Given the description of an element on the screen output the (x, y) to click on. 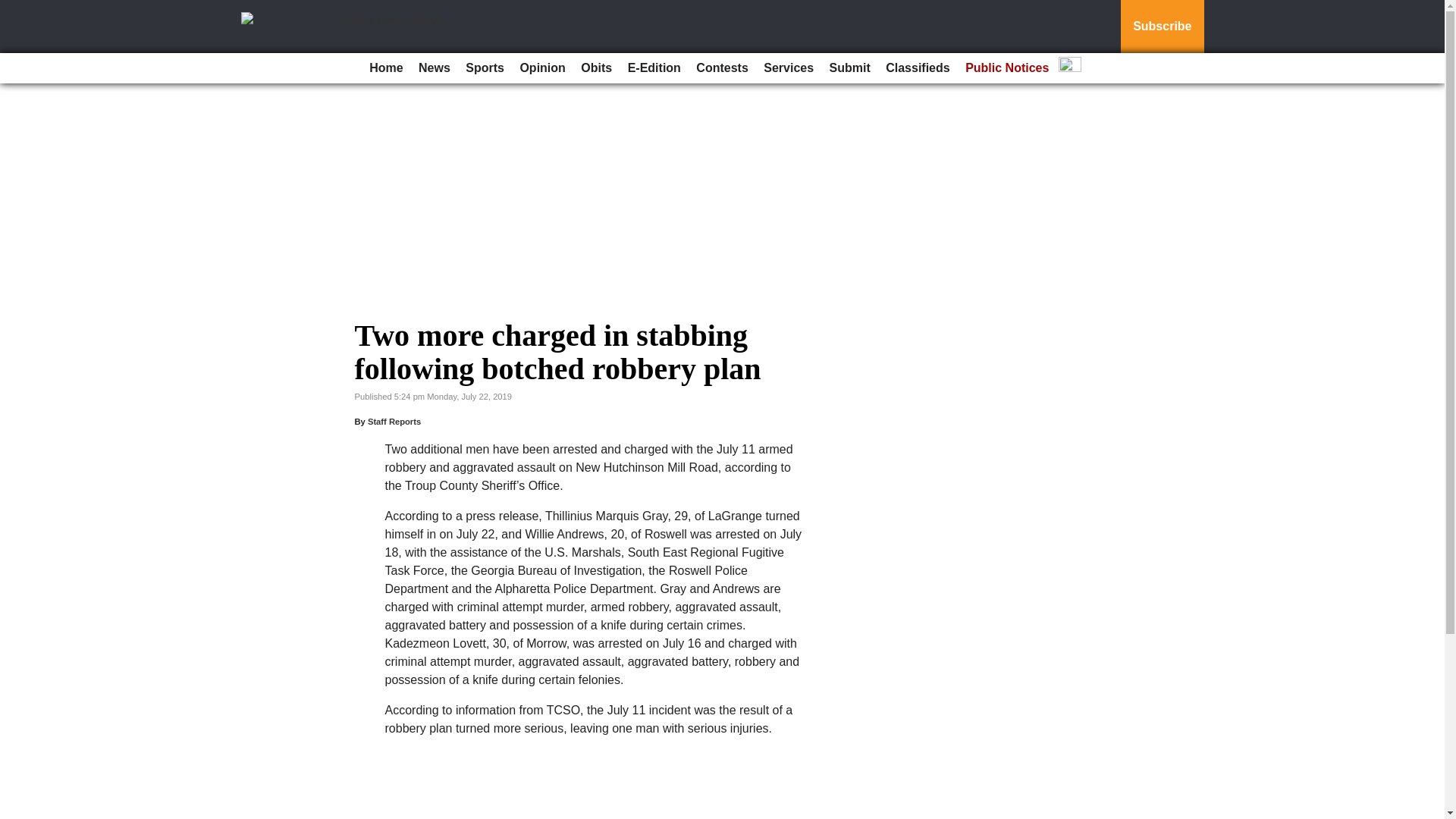
Sports (485, 68)
Obits (596, 68)
Opinion (541, 68)
Home (385, 68)
Subscribe (1162, 26)
Submit (850, 68)
Services (788, 68)
Contests (722, 68)
Public Notices (1006, 68)
Classifieds (917, 68)
News (434, 68)
Go (13, 9)
Staff Reports (394, 420)
E-Edition (654, 68)
